Given the description of an element on the screen output the (x, y) to click on. 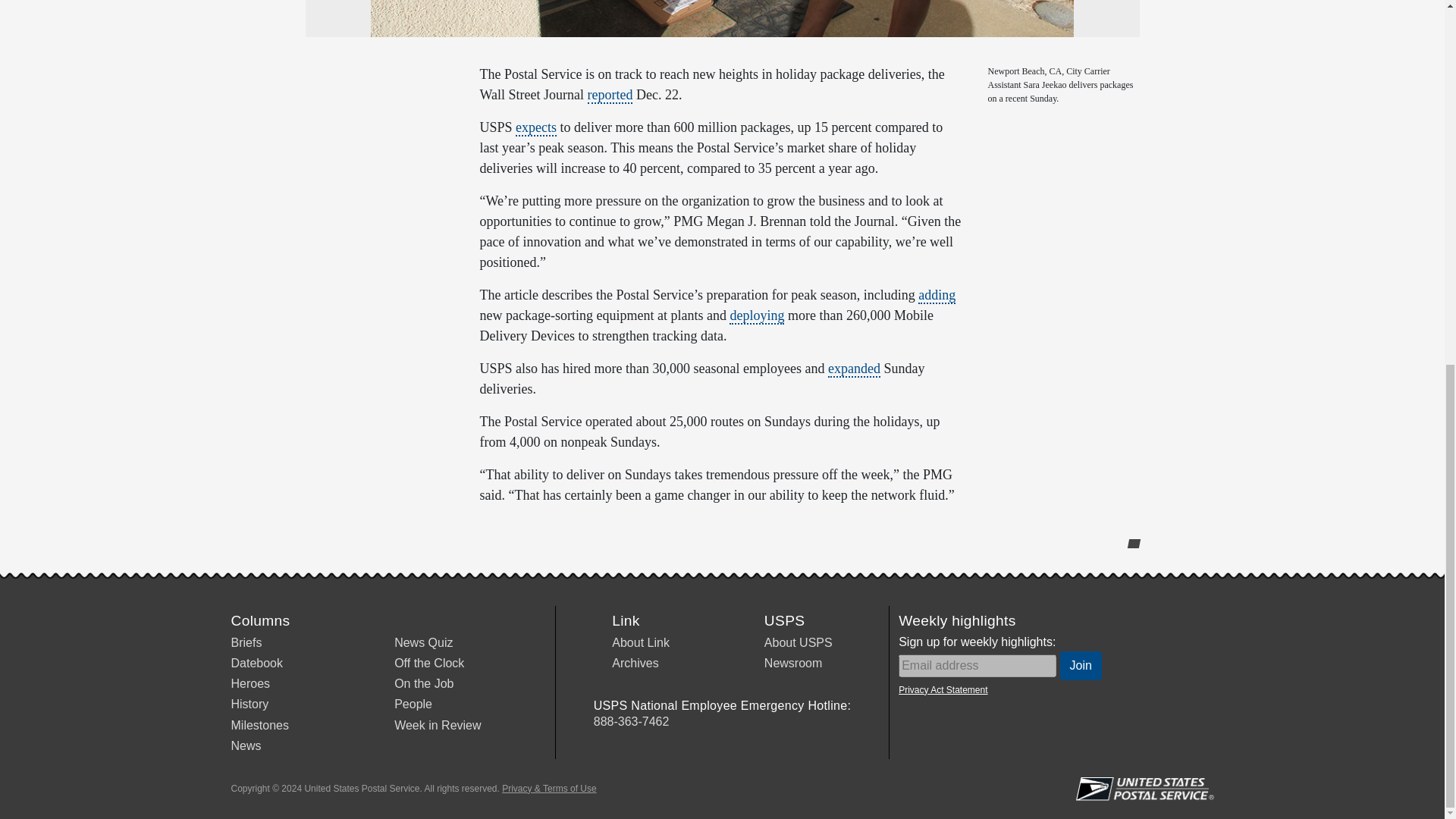
expanded (854, 369)
Heroes (249, 683)
About Link (640, 642)
deploying (756, 315)
History (248, 703)
Join (1080, 665)
expects (535, 127)
Milestones (259, 725)
News (245, 745)
Briefs (246, 642)
